Given the description of an element on the screen output the (x, y) to click on. 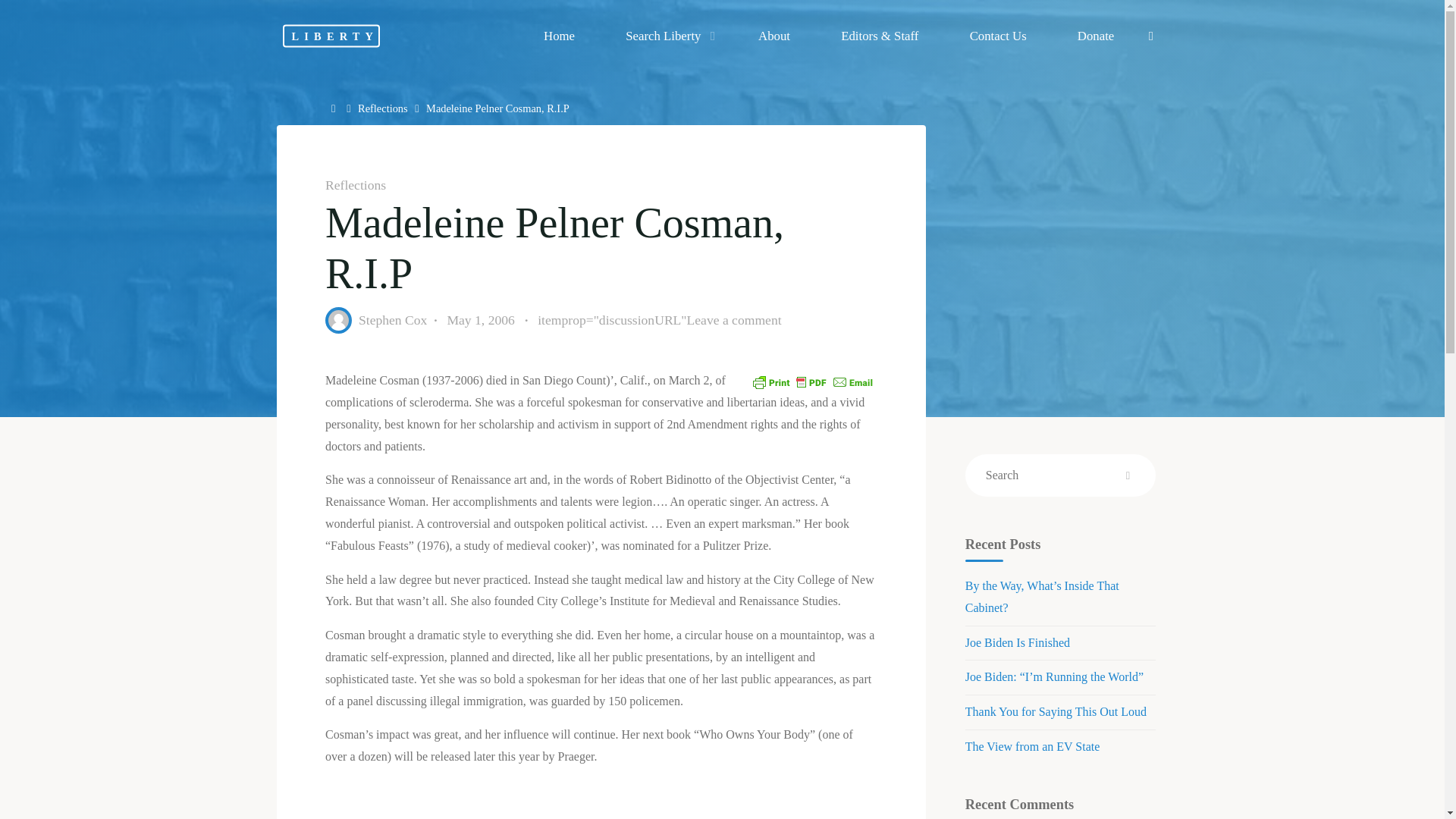
Search Liberty (666, 35)
Reflections (354, 184)
Home (334, 108)
LIBERTY (331, 35)
Contact Us (997, 35)
Home (334, 108)
About (773, 35)
Reflections (382, 108)
View all posts by Stephen Cox (392, 319)
Home (558, 35)
Leave a comment (732, 319)
Stephen Cox (392, 319)
Jump to comments (658, 320)
Donate (1095, 35)
